Given the description of an element on the screen output the (x, y) to click on. 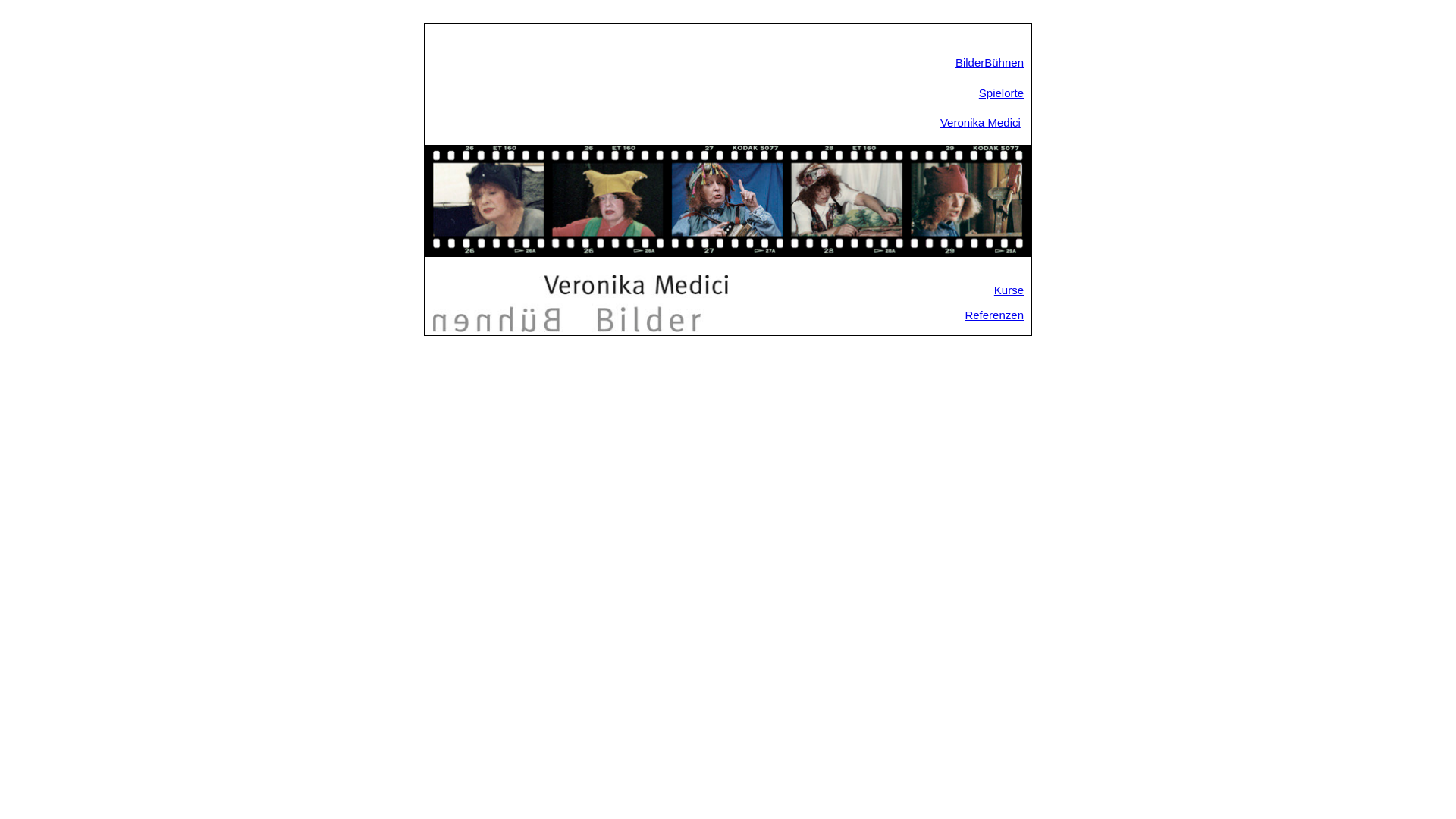
Spielorte Element type: text (1001, 92)
Kurse Element type: text (1008, 289)
Veronika Medici Element type: text (980, 122)
Referenzen Element type: text (993, 314)
